Given the description of an element on the screen output the (x, y) to click on. 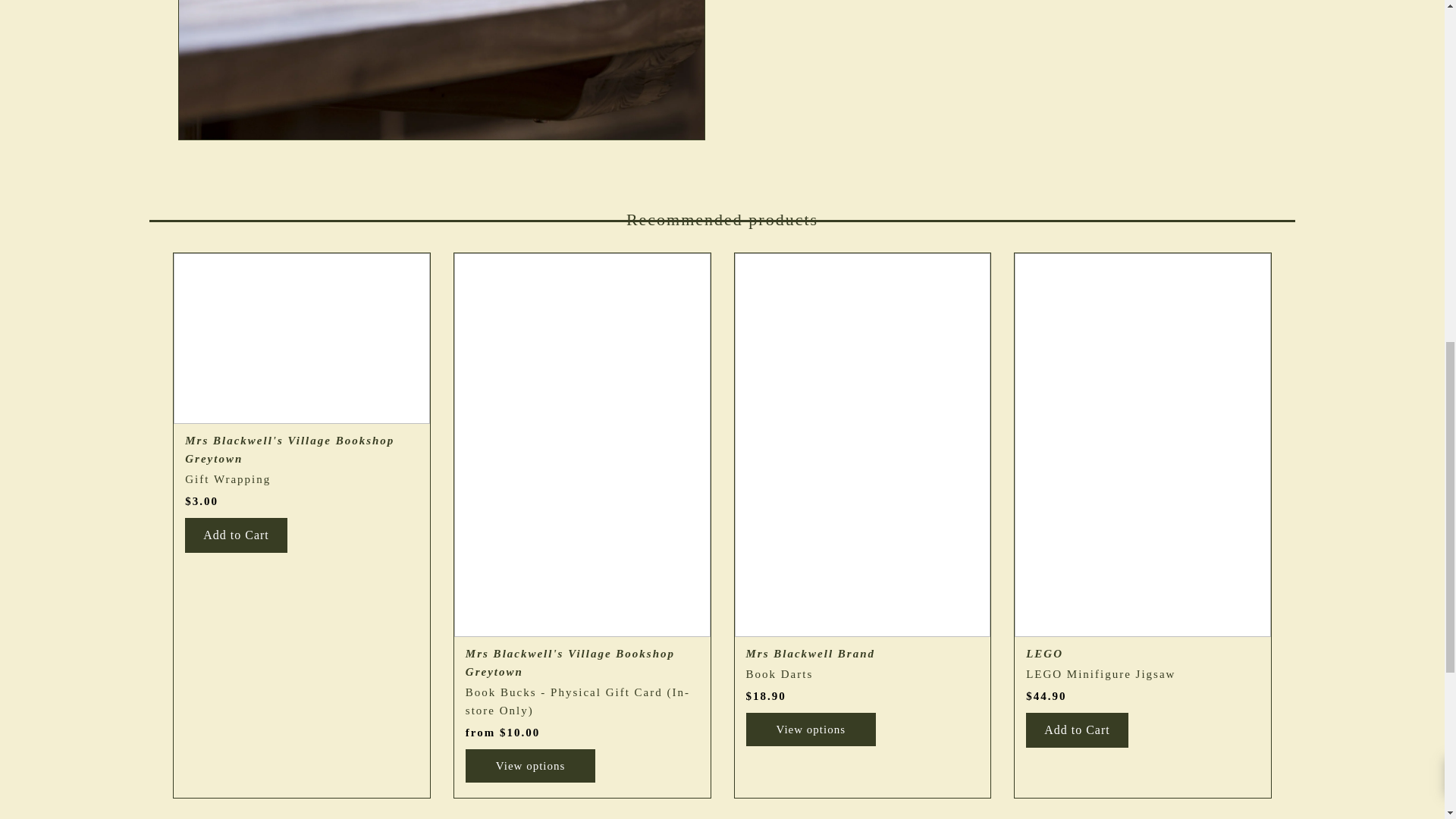
Add to Cart (1077, 729)
Add to Cart (235, 534)
